Given the description of an element on the screen output the (x, y) to click on. 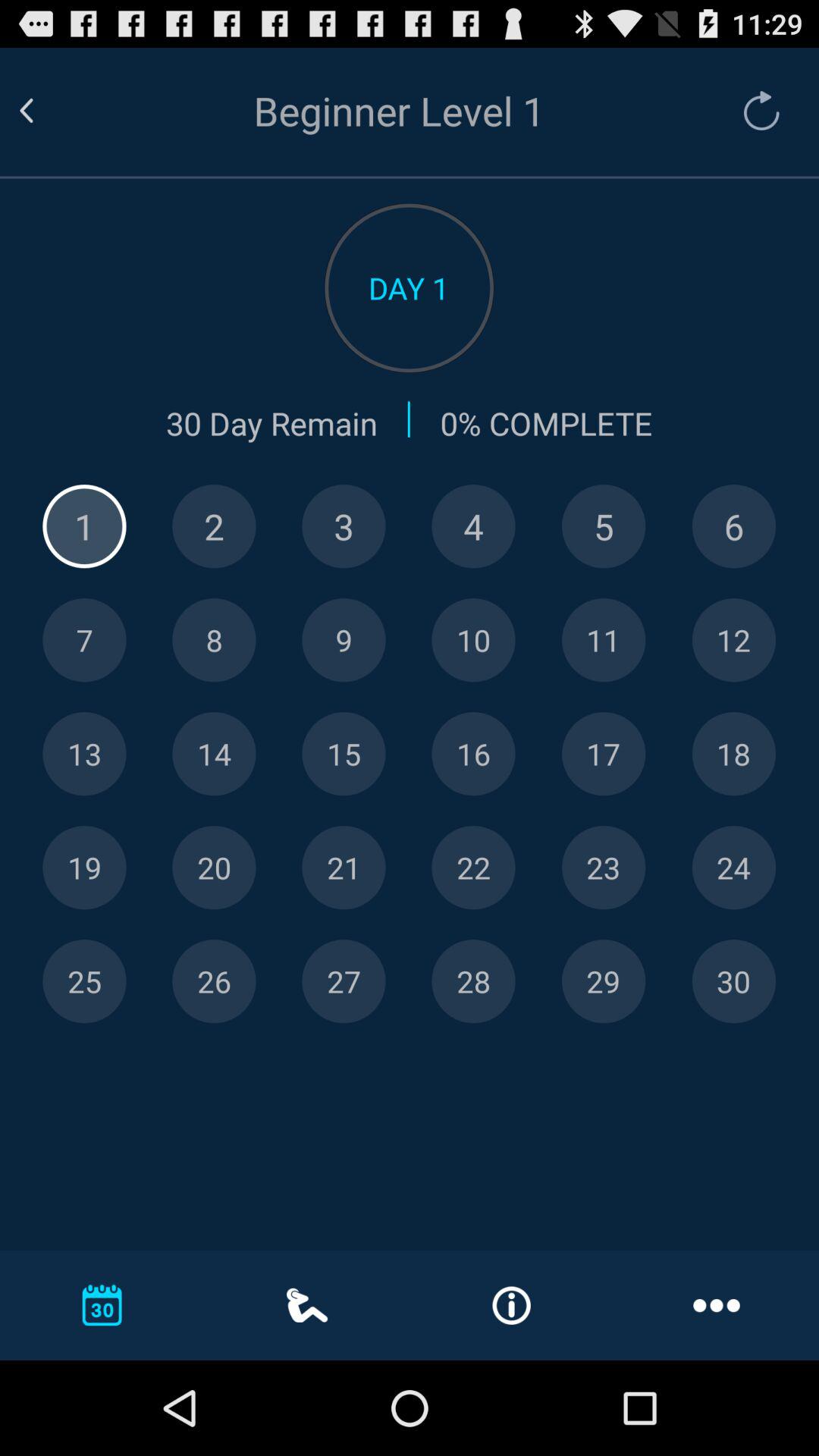
highlights the number 14 (213, 753)
